Given the description of an element on the screen output the (x, y) to click on. 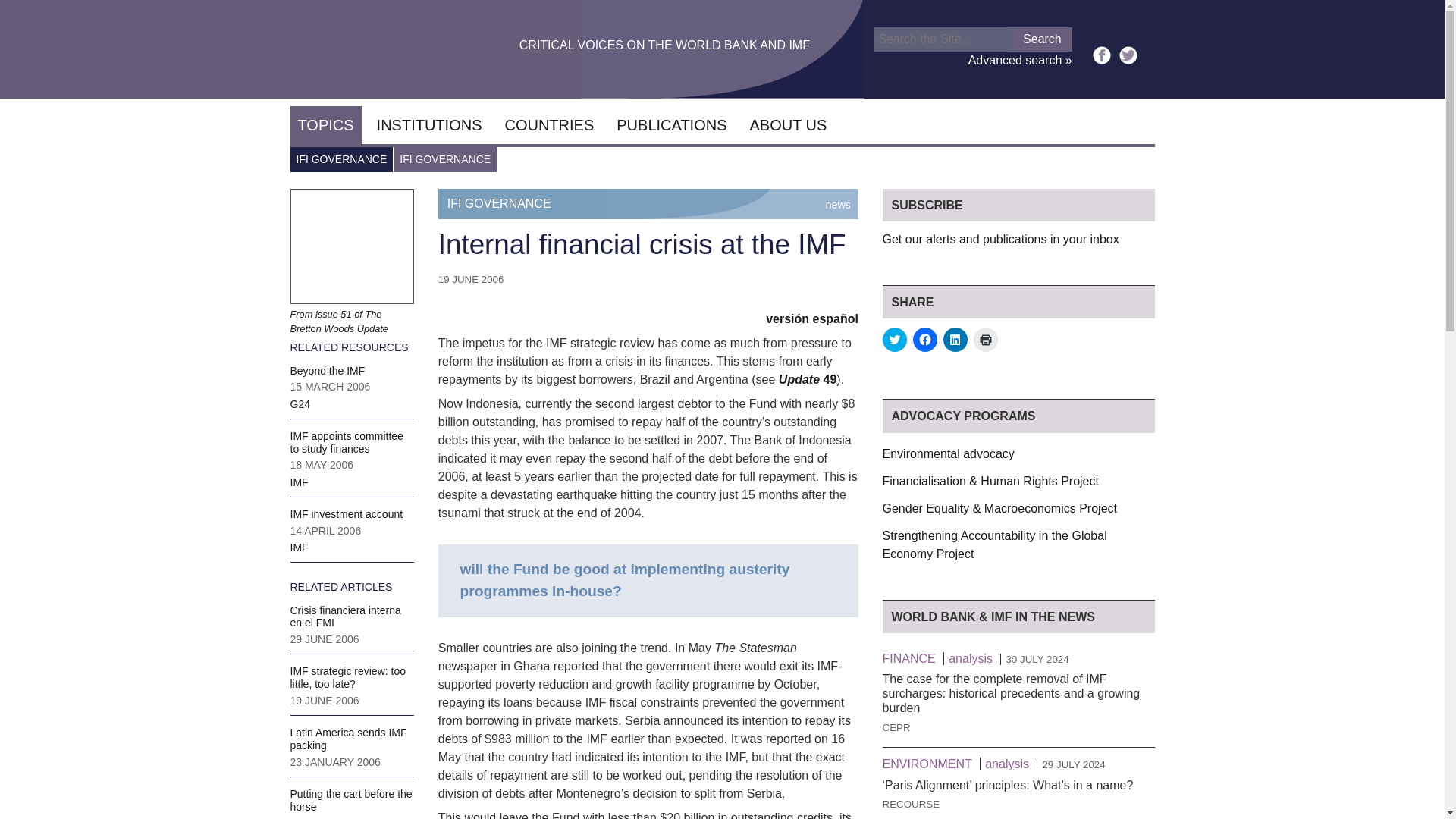
Twitter (1128, 54)
INSTITUTIONS (429, 125)
Facebook (1101, 54)
IMF (298, 481)
PUBLICATIONS (670, 125)
Search (1041, 39)
Search (1041, 39)
TOPICS (325, 125)
IMF (298, 547)
Click to share on LinkedIn (955, 339)
Click to share on Twitter (894, 339)
COUNTRIES (548, 125)
Click to share on Facebook (924, 339)
G24 (298, 404)
Click to print (985, 339)
